Given the description of an element on the screen output the (x, y) to click on. 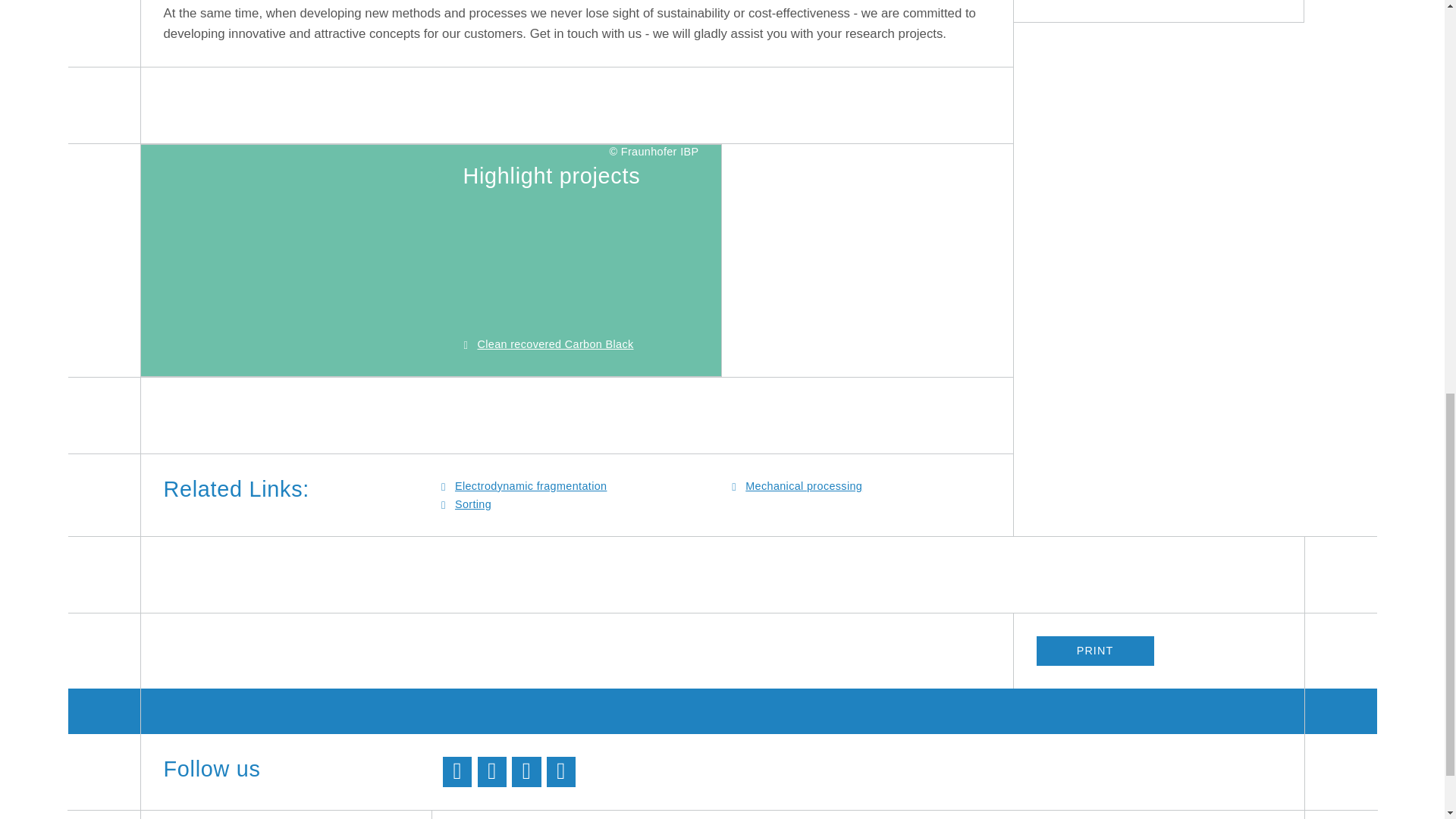
Clean recovered Carbon Black (295, 260)
Visit us on Instagram (561, 771)
Clean recovered Carbon Black (555, 344)
